Given the description of an element on the screen output the (x, y) to click on. 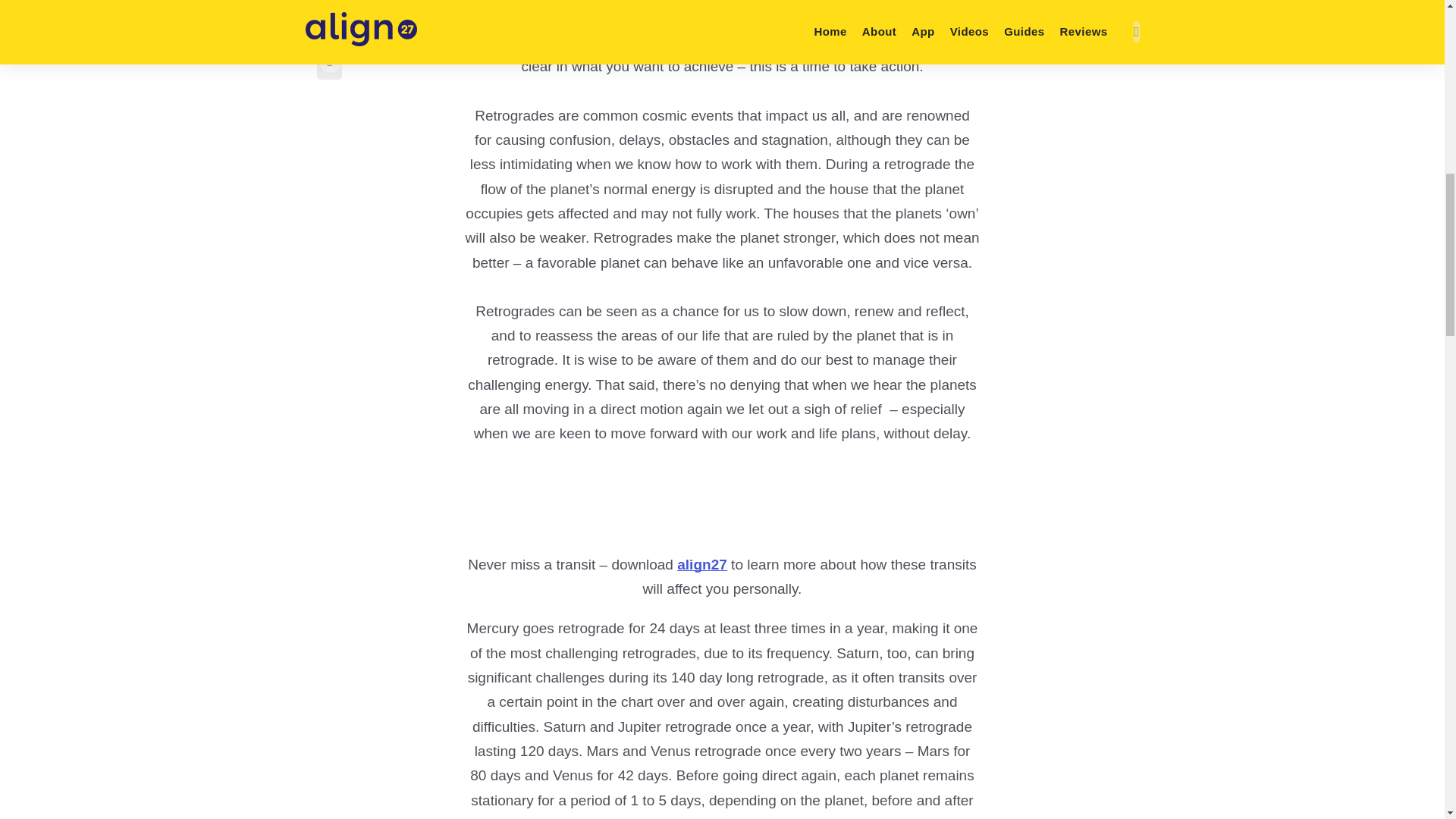
align27 (701, 564)
